Given the description of an element on the screen output the (x, y) to click on. 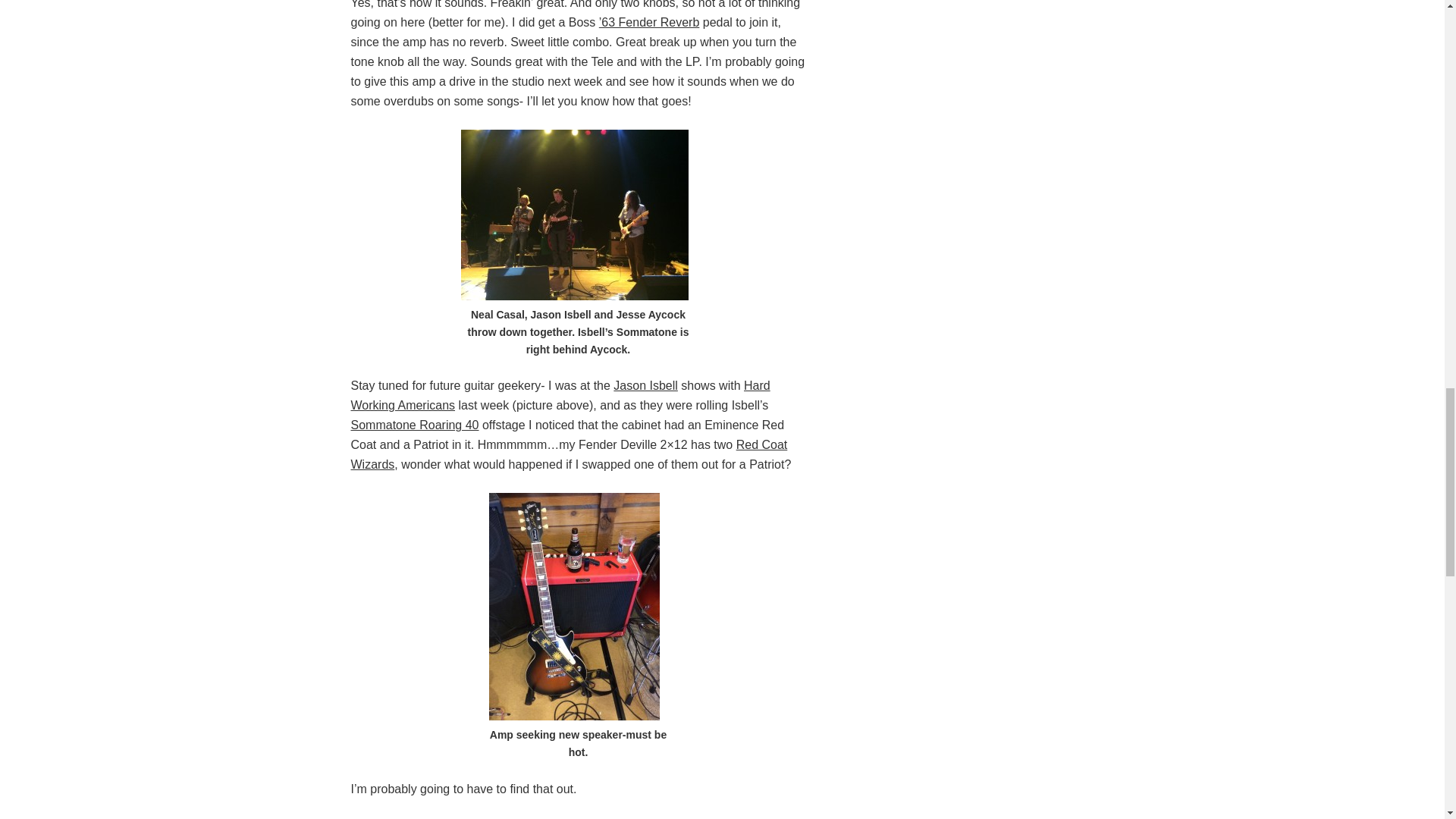
Hard Working Americans (560, 395)
Jason Isbell (645, 385)
Red Coat Wizards (568, 454)
Sommatone Roaring 40 (414, 424)
